Given the description of an element on the screen output the (x, y) to click on. 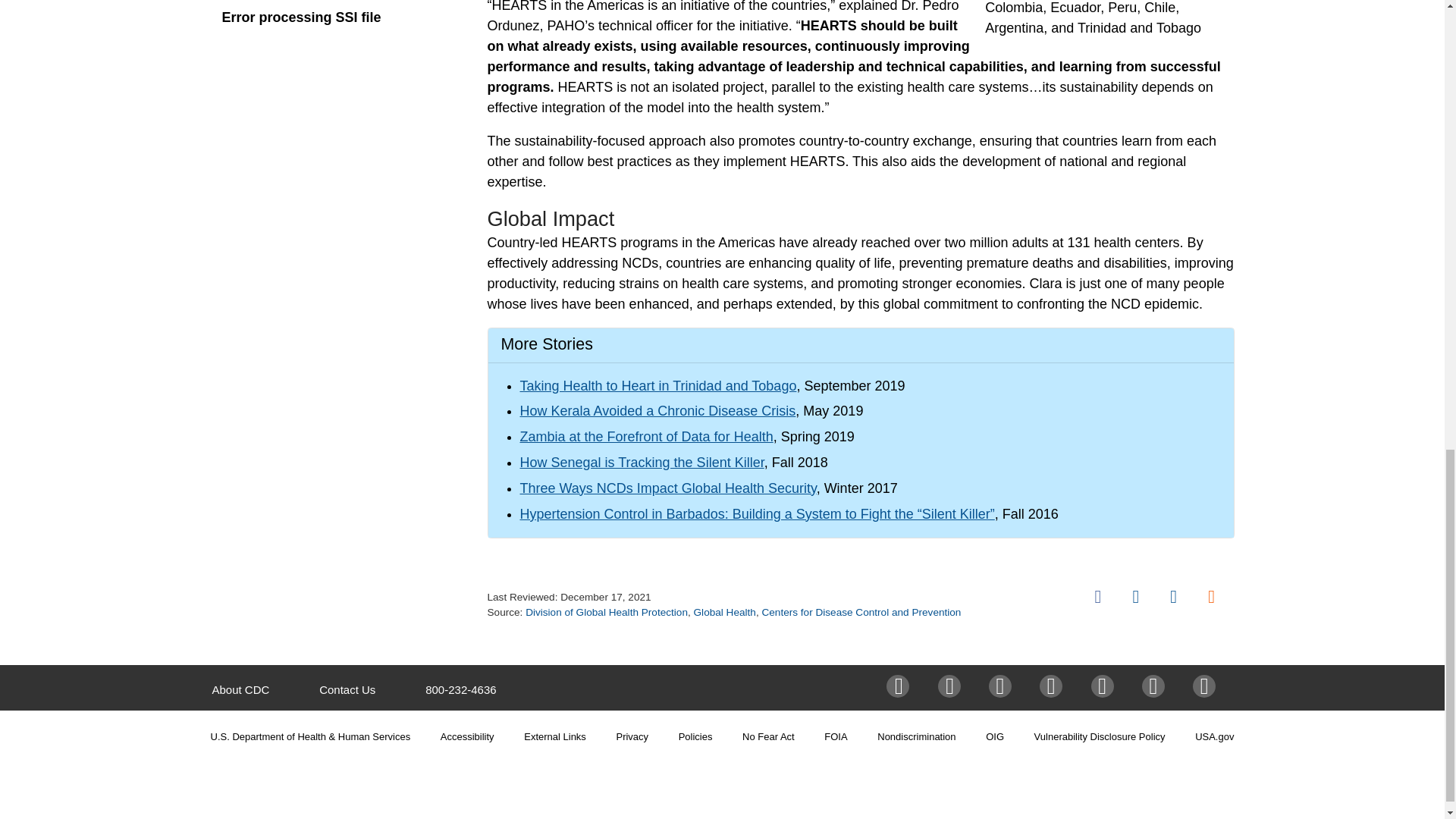
Syndicate (1211, 596)
Division of Global Health Protection (606, 612)
LinkedIn (1173, 596)
Three Ways NCDs Impact Global Health Security (667, 488)
How Senegal is Tracking the Silent Killer (641, 462)
Share to LinkedIn (1173, 596)
How Kerala Avoided a Chronic Disease Crisis (657, 410)
Twitter (1135, 596)
Zambia at the Forefront of Data for Health (646, 436)
Share to Facebook (1097, 596)
Embed this Page (1211, 596)
Centers for Disease Control and Prevention (860, 612)
Taking Health to Heart in Trinidad and Tobago (657, 385)
HEARTS Implementation in the Americas (1109, 19)
Facebook (1097, 596)
